Given the description of an element on the screen output the (x, y) to click on. 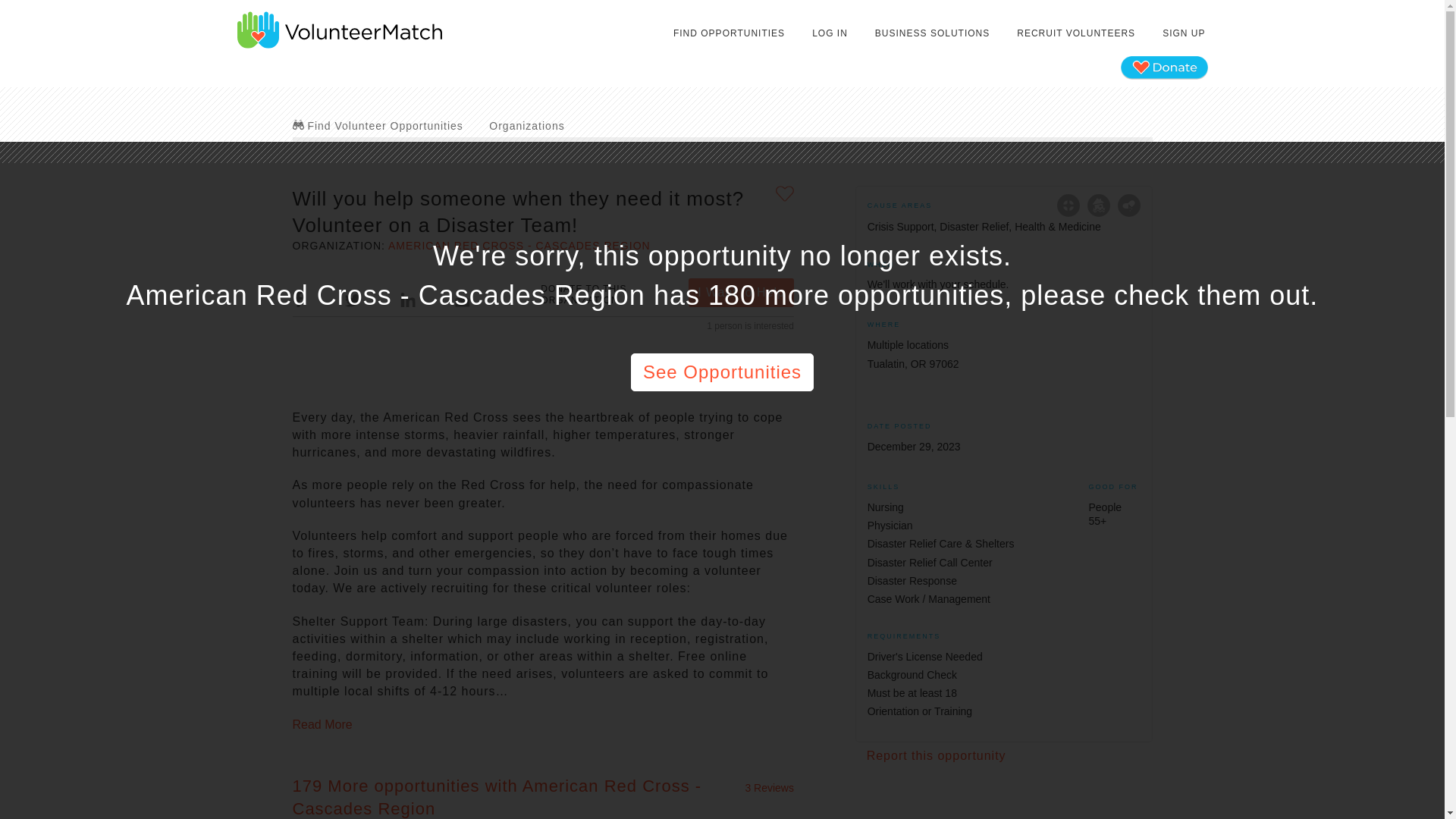
Opens a widget where you can find more information (57, 792)
3 Reviews (768, 787)
LOG IN (829, 32)
FIND OPPORTUNITIES (729, 32)
I Want to Help (740, 292)
BUSINESS SOLUTIONS (931, 32)
Disaster Relief (1098, 205)
Find Volunteer Opportunities (377, 125)
I Want to Help (740, 292)
SIGN UP (1183, 32)
See Opportunities (721, 371)
AMERICAN RED CROSS - CASCADES REGION (519, 245)
Report this opportunity (936, 755)
Crisis Support (1068, 205)
